Given the description of an element on the screen output the (x, y) to click on. 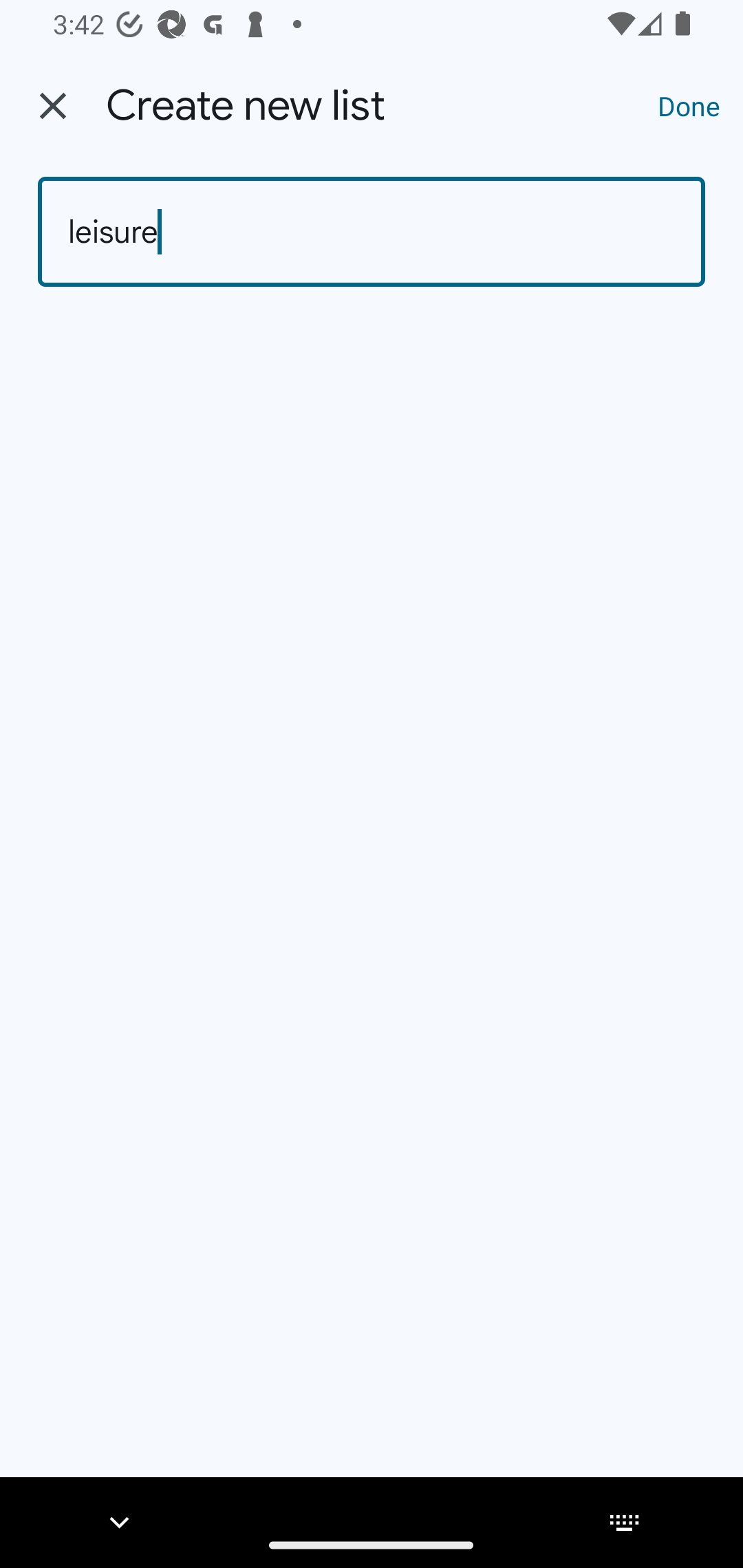
Back (53, 105)
Done (689, 105)
leisure (371, 231)
